Given the description of an element on the screen output the (x, y) to click on. 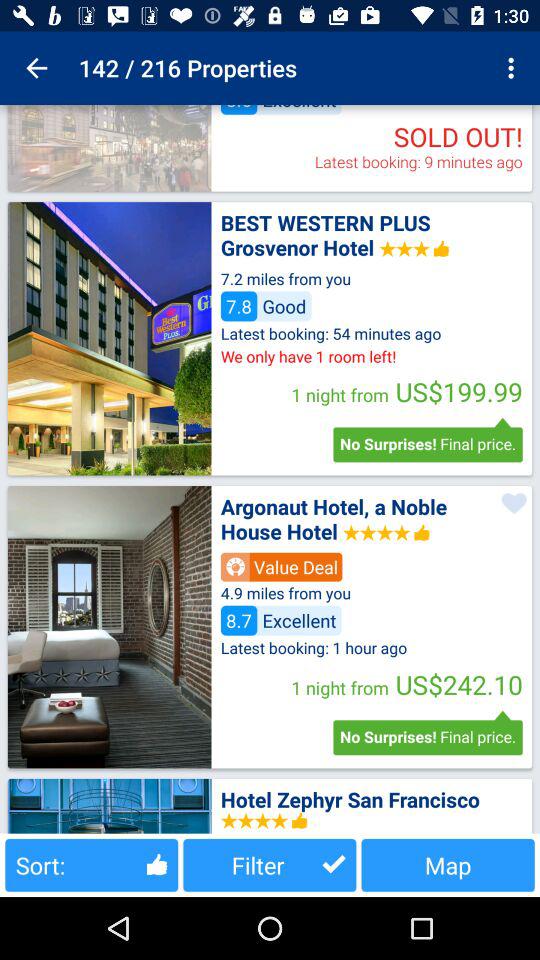
view pic (109, 805)
